Given the description of an element on the screen output the (x, y) to click on. 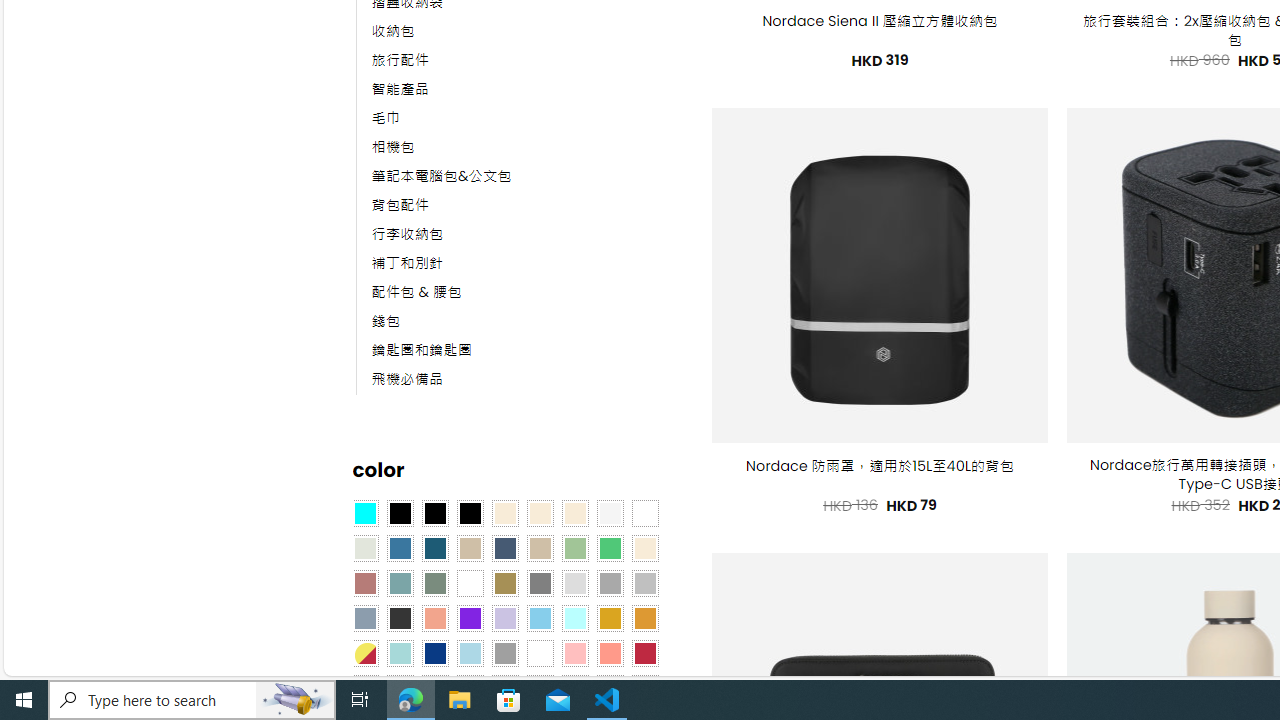
Cream (574, 514)
